Given the description of an element on the screen output the (x, y) to click on. 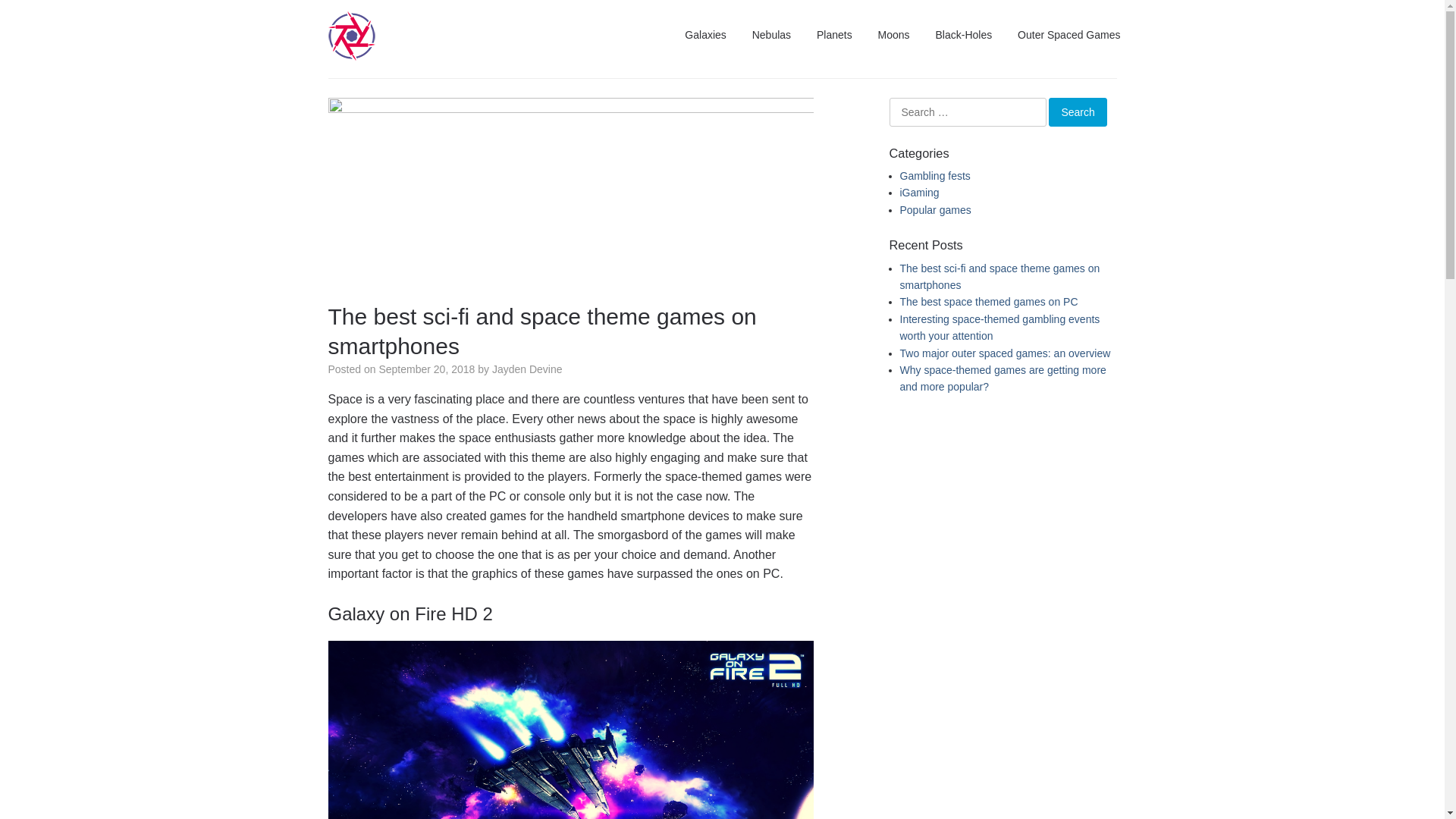
Galaxies Element type: text (705, 34)
Popular games Element type: text (934, 209)
Gambling fests Element type: text (934, 175)
Jayden Devine Element type: text (527, 369)
Nebulas Element type: text (771, 34)
Search Element type: text (1077, 111)
The best sci-fi and space theme games on smartphones Element type: hover (569, 108)
Two major outer spaced games: an overview Element type: text (1004, 353)
Planets Element type: text (834, 34)
September 20, 2018 Element type: text (426, 369)
CAPTIVATING ASTROPHOTOGRAPHY Element type: text (546, 79)
Why space-themed games are getting more and more popular? Element type: text (1002, 378)
The best sci-fi and space theme games on smartphones Element type: text (999, 276)
iGaming Element type: text (918, 192)
Moons Element type: text (893, 34)
The best space themed games on PC Element type: text (988, 301)
Black-Holes Element type: text (963, 34)
Outer Spaced Games Element type: text (1068, 34)
